Given the description of an element on the screen output the (x, y) to click on. 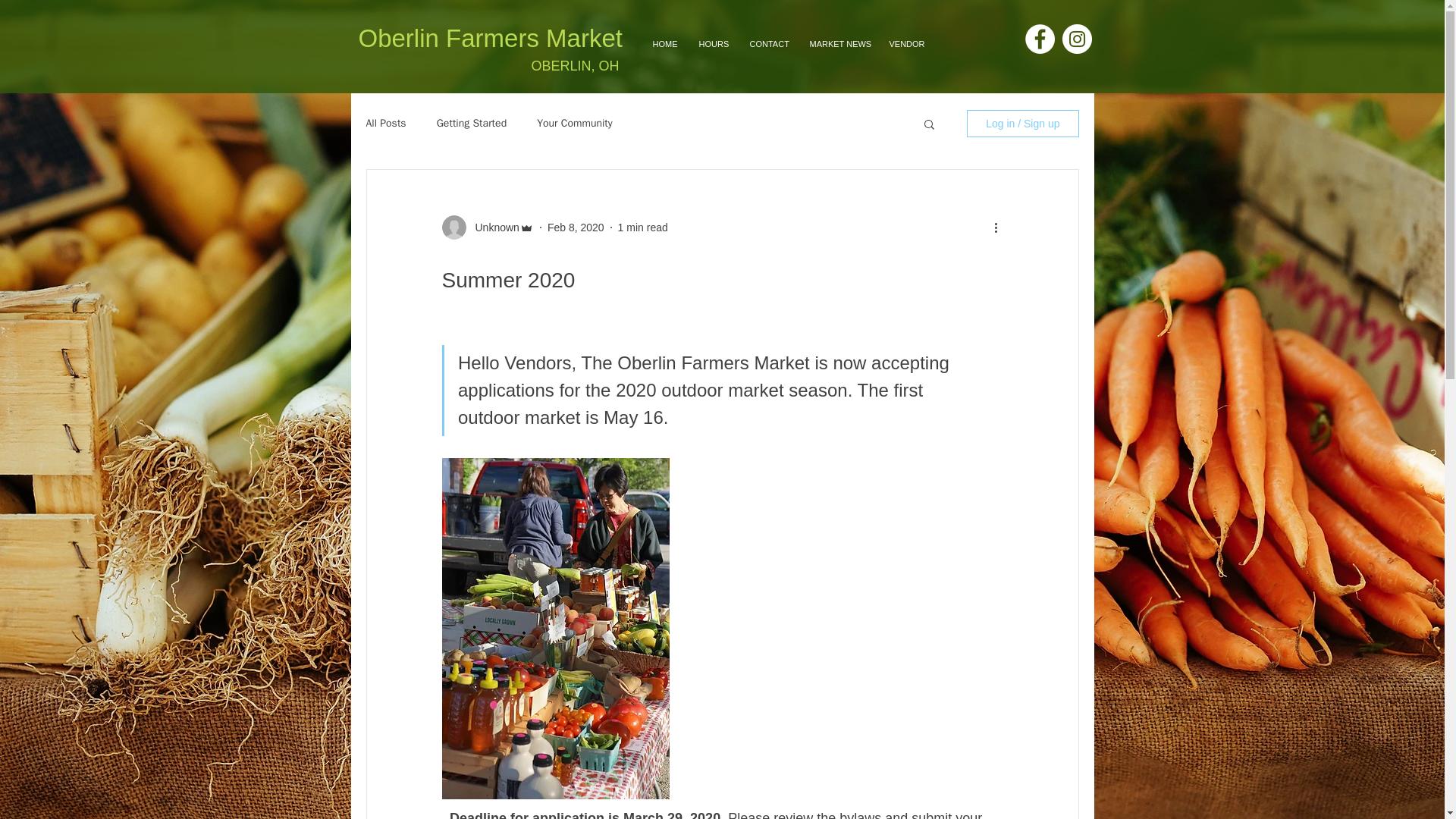
MARKET NEWS (837, 43)
VENDOR (905, 43)
Your Community (574, 123)
Unknown (491, 227)
HOME (664, 43)
Getting Started (471, 123)
CONTACT (767, 43)
Feb 8, 2020 (575, 227)
1 min read (642, 227)
All Posts (385, 123)
HOURS (712, 43)
